Given the description of an element on the screen output the (x, y) to click on. 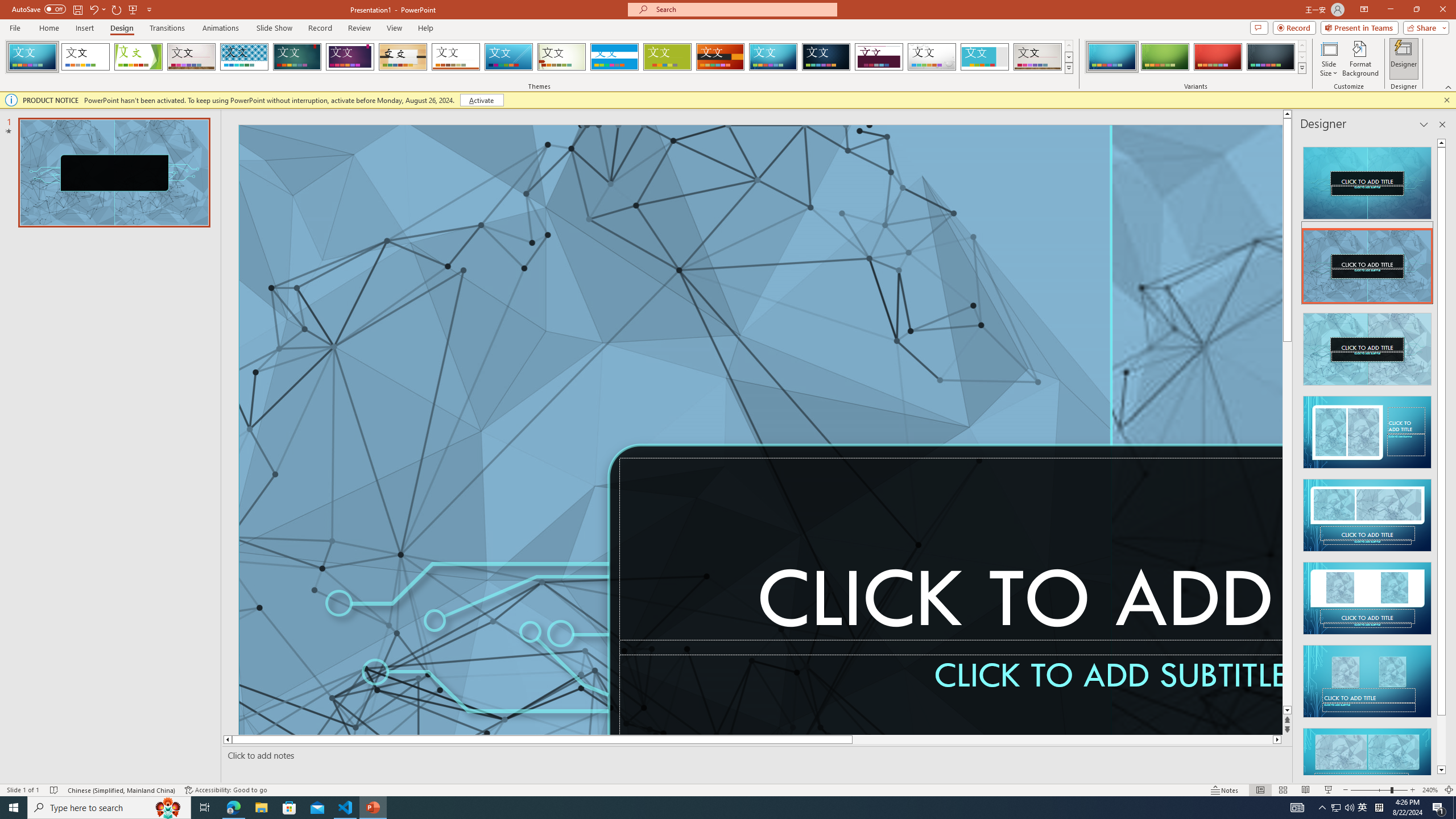
Decorative Locked (1110, 286)
Wisp (561, 56)
Basis (667, 56)
